Given the description of an element on the screen output the (x, y) to click on. 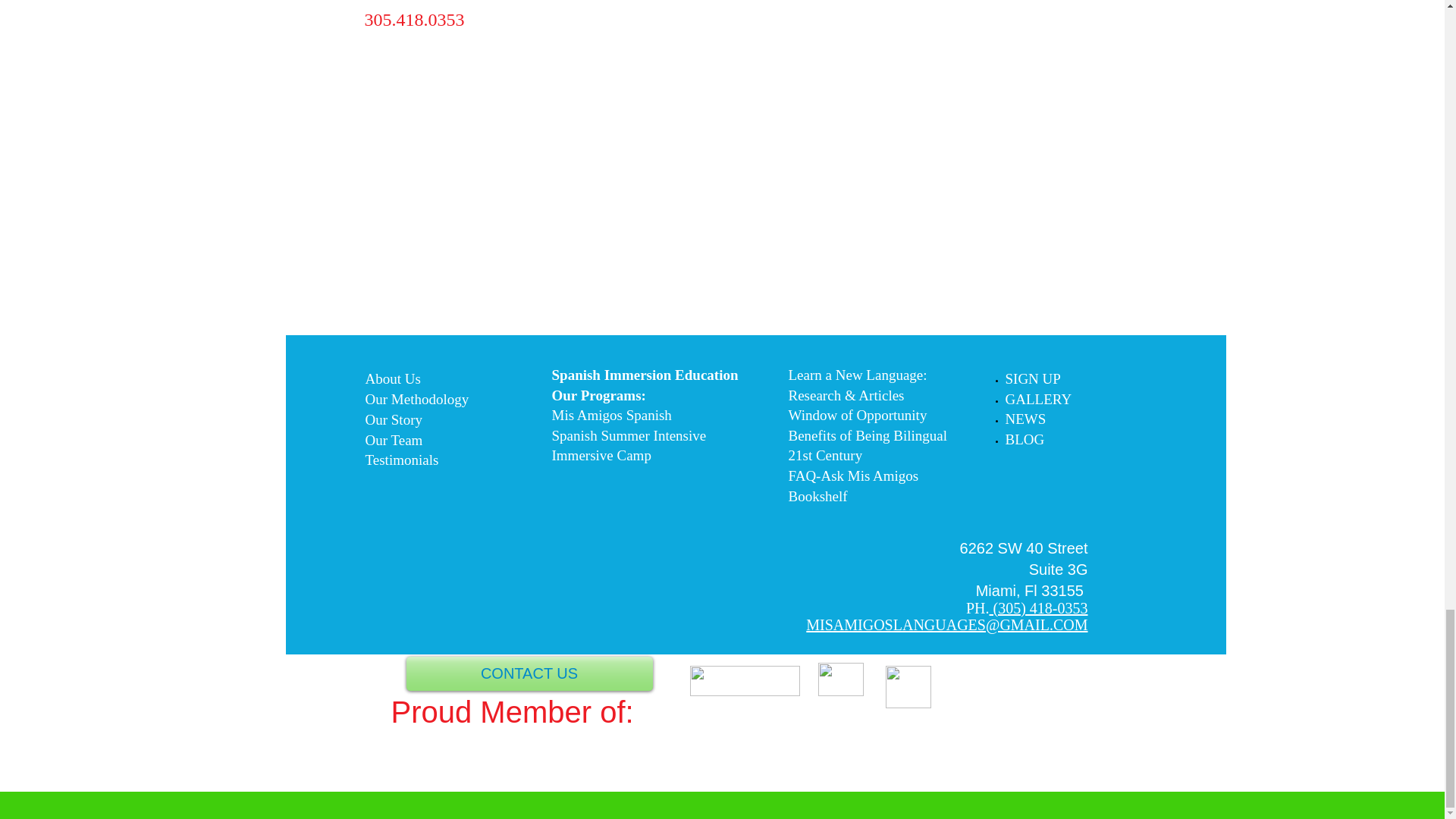
FAQ-Ask Mis Amigos (853, 478)
NEWS (1026, 420)
Testimonials (402, 459)
BLOG (1025, 441)
About Us (392, 378)
Our Team (394, 439)
Our Story (393, 419)
Our Methodology (416, 399)
Learn  (807, 377)
21st Century (826, 457)
